Given the description of an element on the screen output the (x, y) to click on. 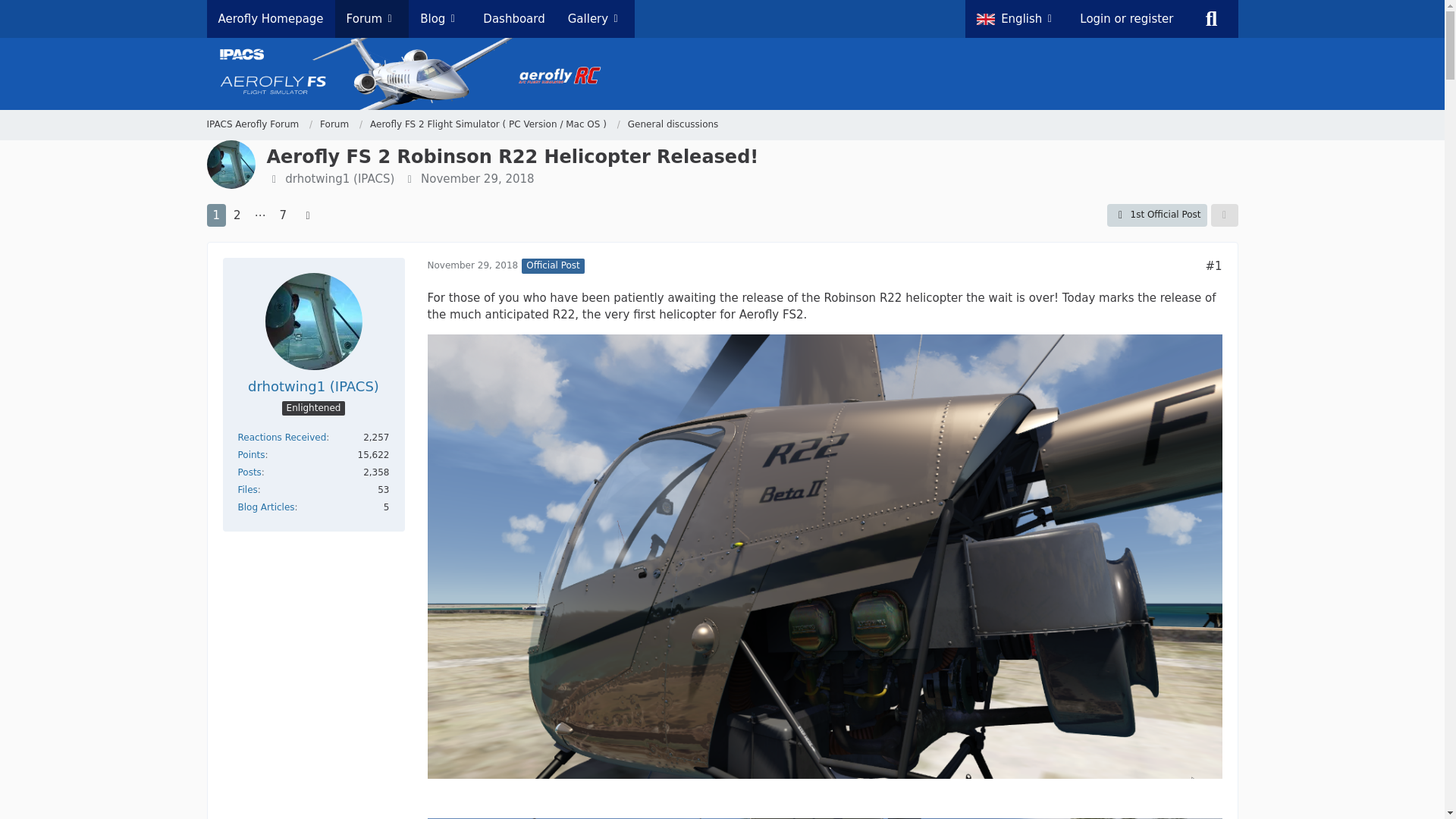
Points (251, 454)
Forum (341, 124)
Aerofly Homepage (270, 18)
Dashboard (513, 18)
Login or register (1126, 18)
Reactions Received (282, 437)
IPACS Aerofly Forum (252, 124)
Forum (334, 124)
General discussions (673, 124)
IPACS Aerofly Forum (259, 124)
Posts (250, 471)
